Given the description of an element on the screen output the (x, y) to click on. 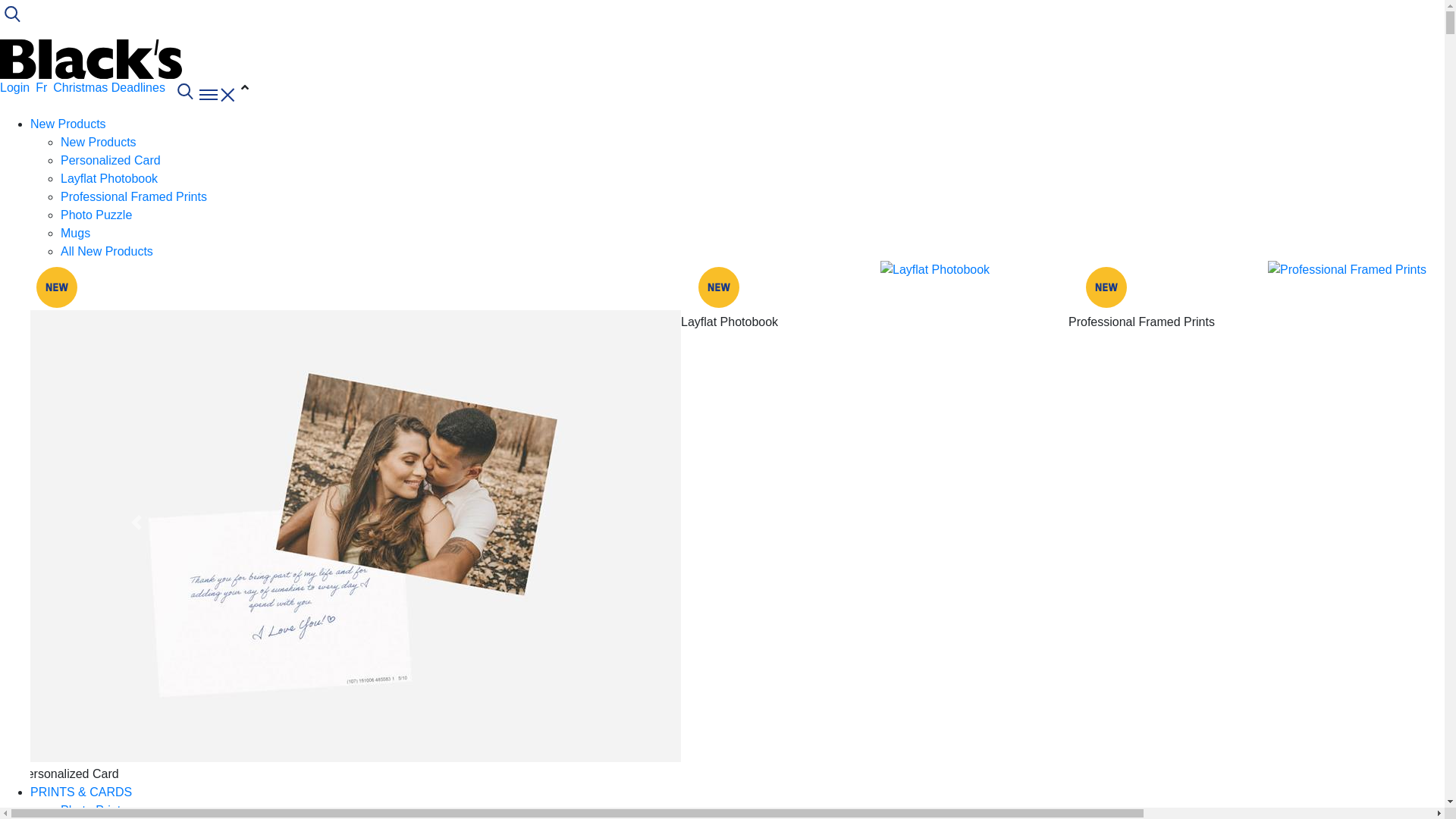
New Products Element type: text (98, 141)
Black's Element type: text (91, 57)
 Professional Framed Prints Element type: hover (1346, 269)
Christmas Deadlines Element type: text (109, 87)
Previous Element type: text (136, 521)
Personalized Card Element type: text (110, 159)
Photo Prints Element type: text (93, 809)
Layflat Photobook Element type: text (108, 178)
Photo Puzzle Element type: text (95, 214)
PRINTS & CARDS Element type: text (80, 791)
Next Element type: text (1338, 521)
Login Element type: text (14, 87)
Personalized Card Element type: hover (355, 536)
Mugs Element type: text (75, 232)
All New Products Element type: text (106, 250)
Professional Framed Prints Element type: text (133, 196)
New Products Element type: text (68, 123)
Fr Element type: text (41, 87)
Layflat Photobook Element type: hover (934, 269)
